Given the description of an element on the screen output the (x, y) to click on. 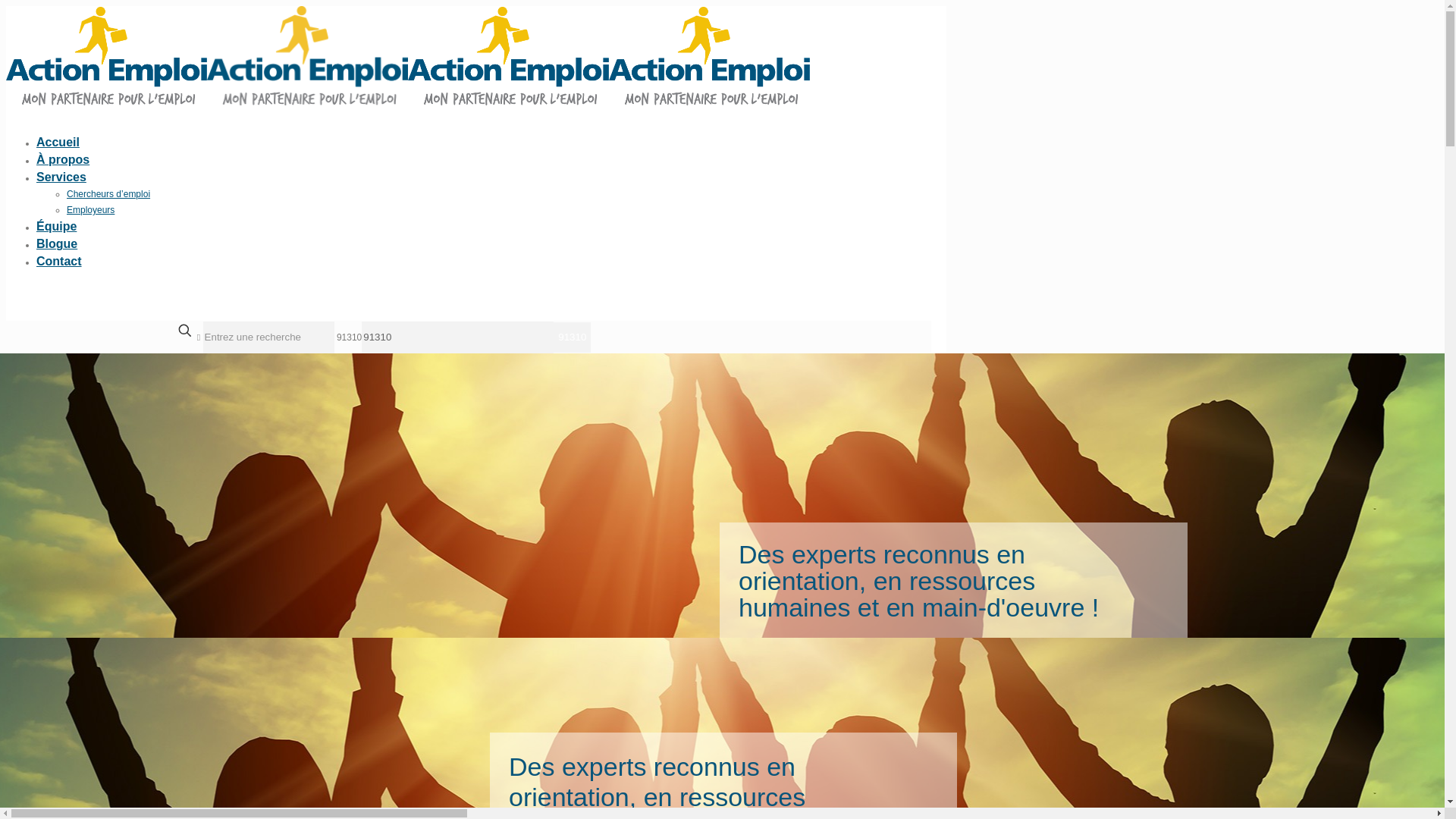
Employeurs Element type: text (90, 209)
91310 Element type: text (571, 337)
Action Emploi Element type: hover (407, 102)
Services Element type: text (61, 176)
Contact Element type: text (58, 261)
Accueil Element type: text (57, 142)
Blogue Element type: text (56, 243)
